Given the description of an element on the screen output the (x, y) to click on. 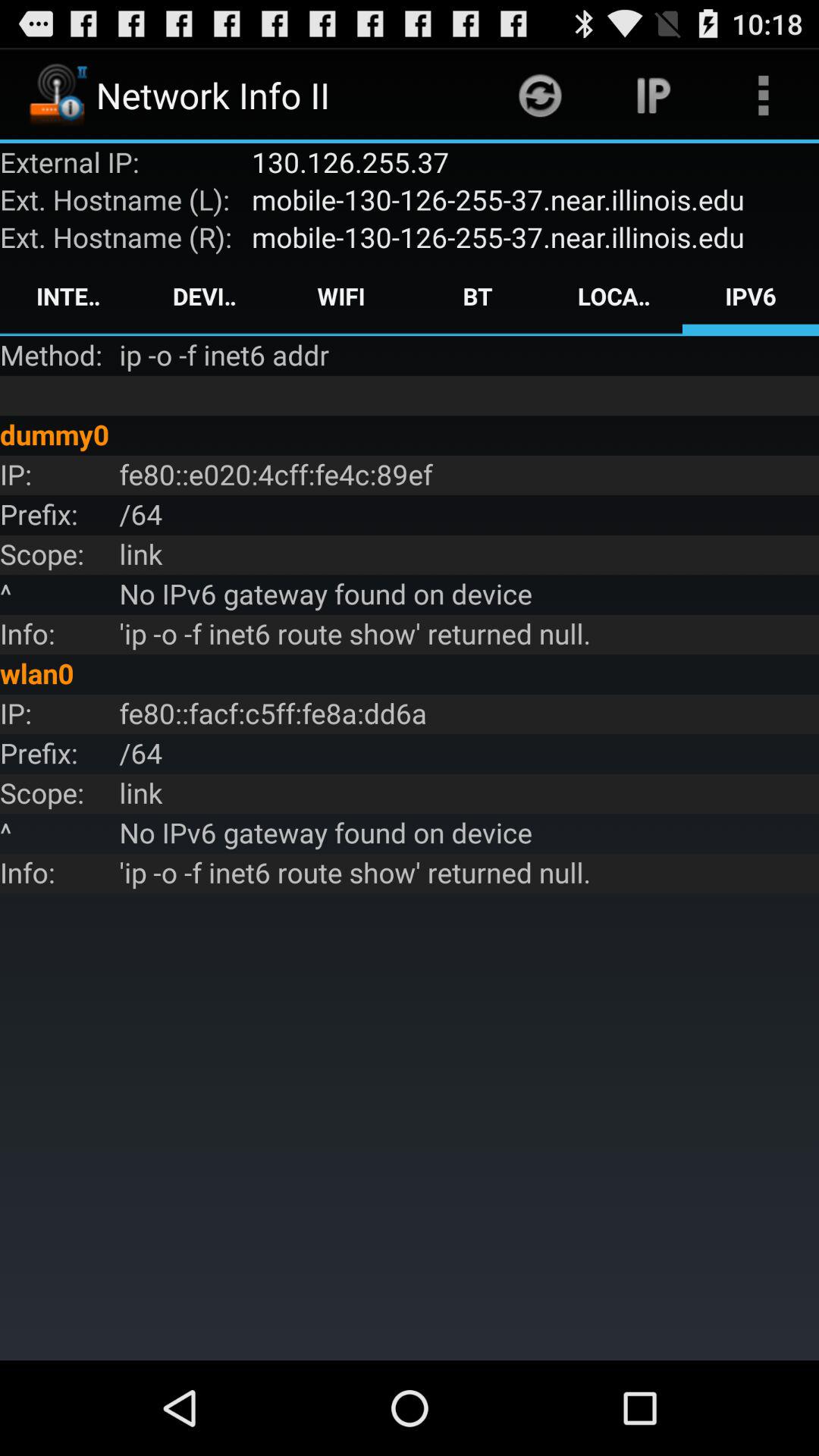
turn on the icon next to the device icon (341, 295)
